Given the description of an element on the screen output the (x, y) to click on. 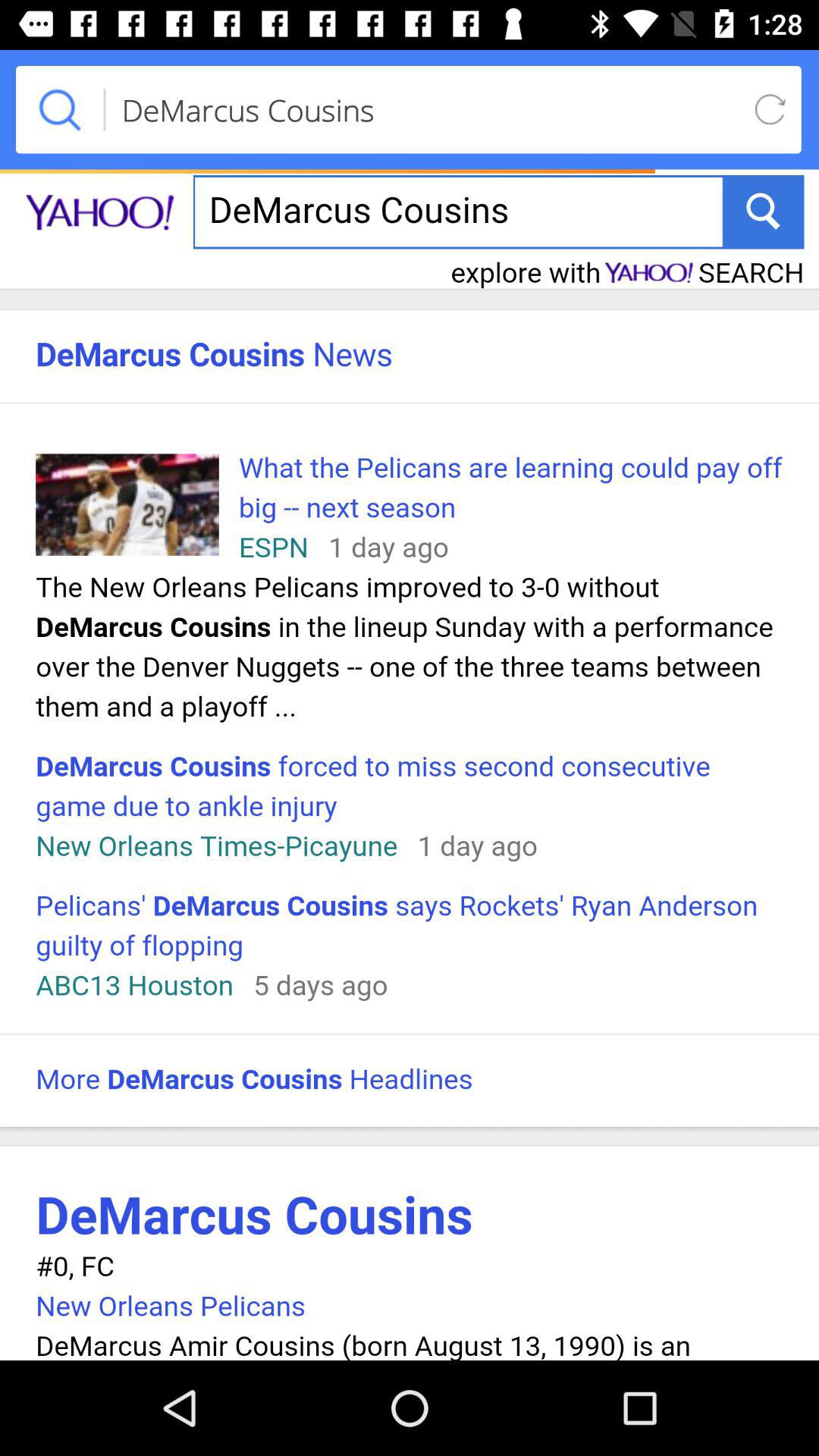
showing the yahoo search results (409, 761)
